Given the description of an element on the screen output the (x, y) to click on. 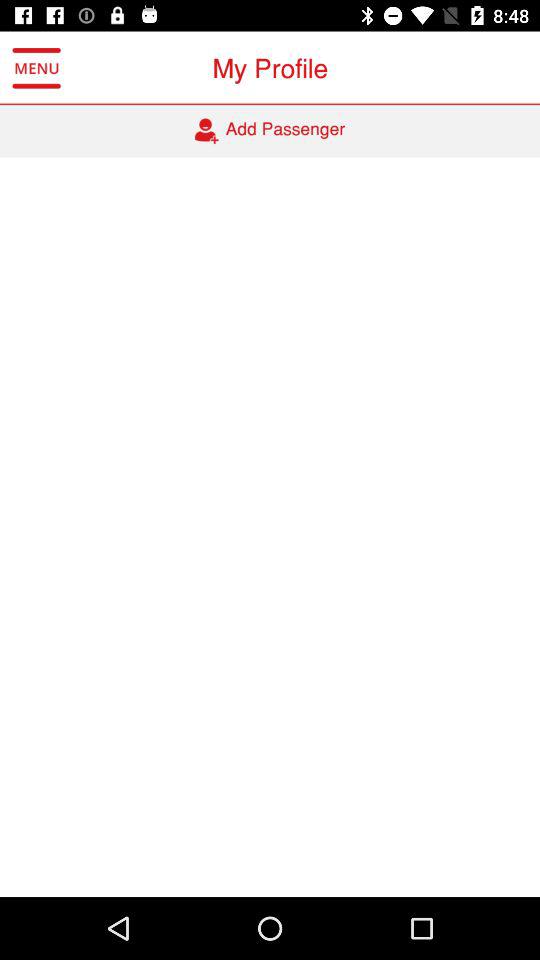
press the item next to the add passenger item (36, 68)
